Given the description of an element on the screen output the (x, y) to click on. 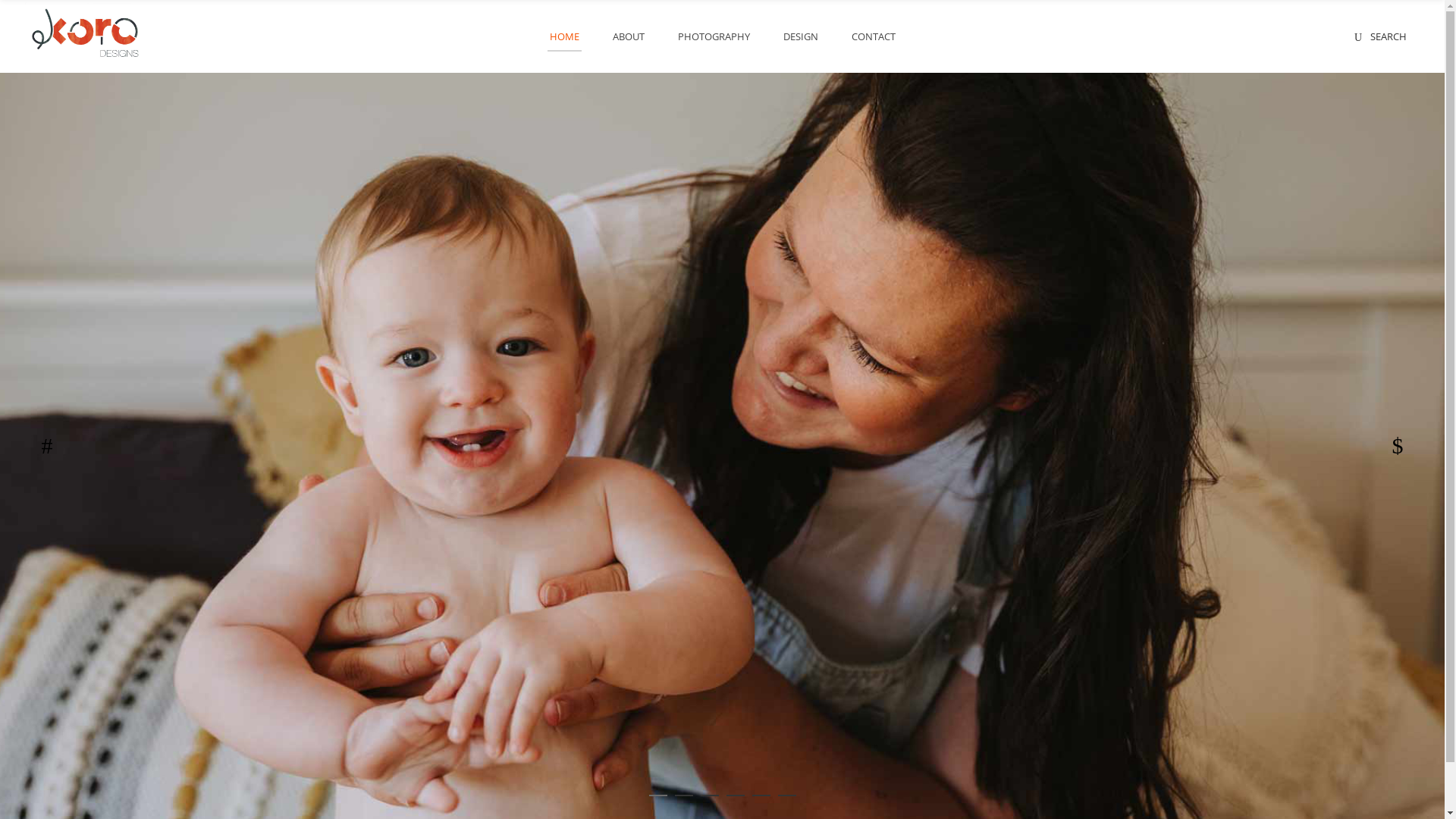
ABOUT Element type: text (628, 36)
DESIGN Element type: text (799, 36)
U Element type: text (994, 413)
CONTACT Element type: text (872, 36)
HOME Element type: text (563, 36)
PHOTOGRAPHY Element type: text (713, 36)
SEARCH Element type: text (1380, 36)
